Given the description of an element on the screen output the (x, y) to click on. 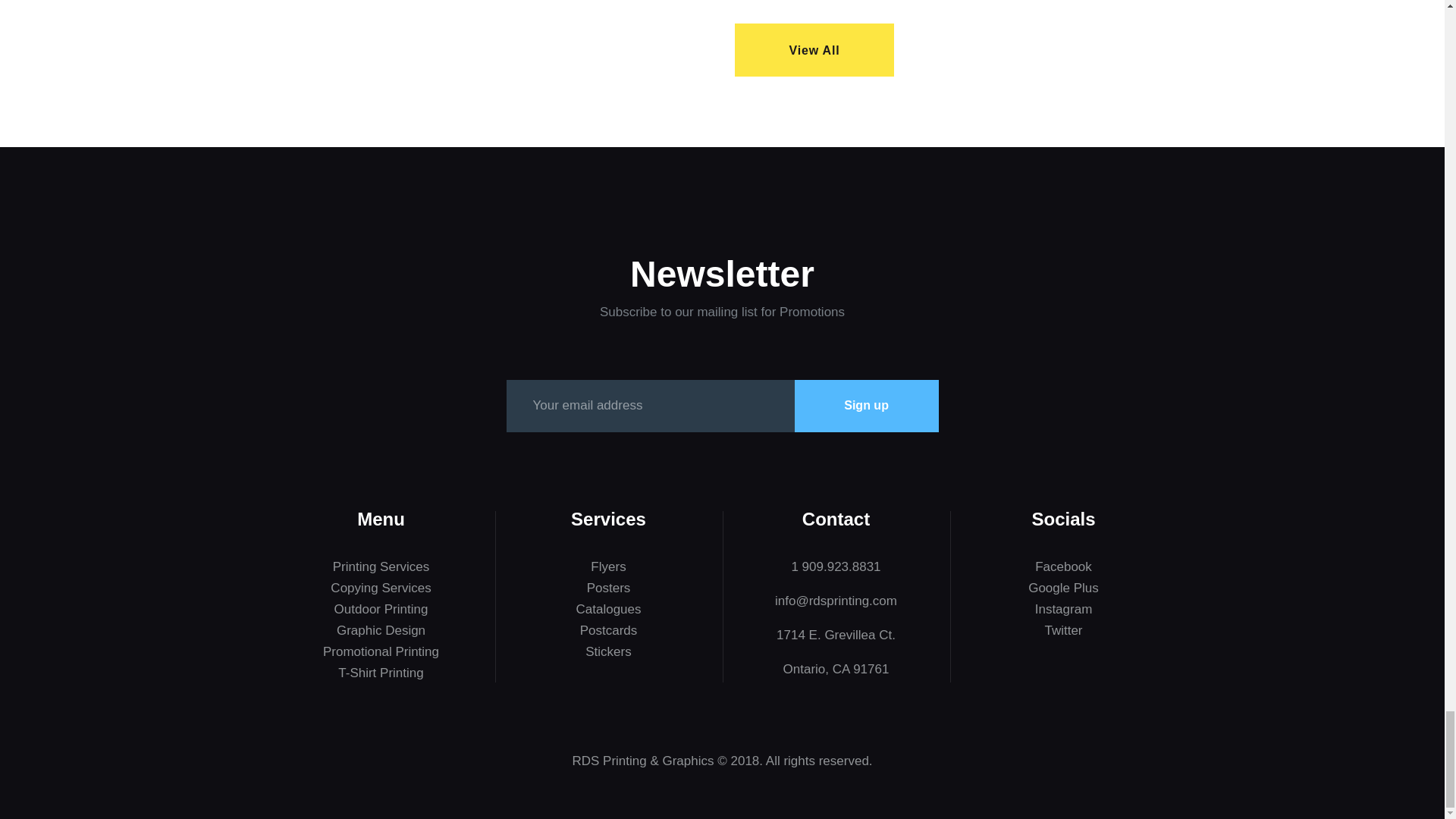
Printing Services (381, 566)
View All (815, 49)
Copying Services (380, 587)
Sign up (866, 406)
Sign up (866, 406)
